Given the description of an element on the screen output the (x, y) to click on. 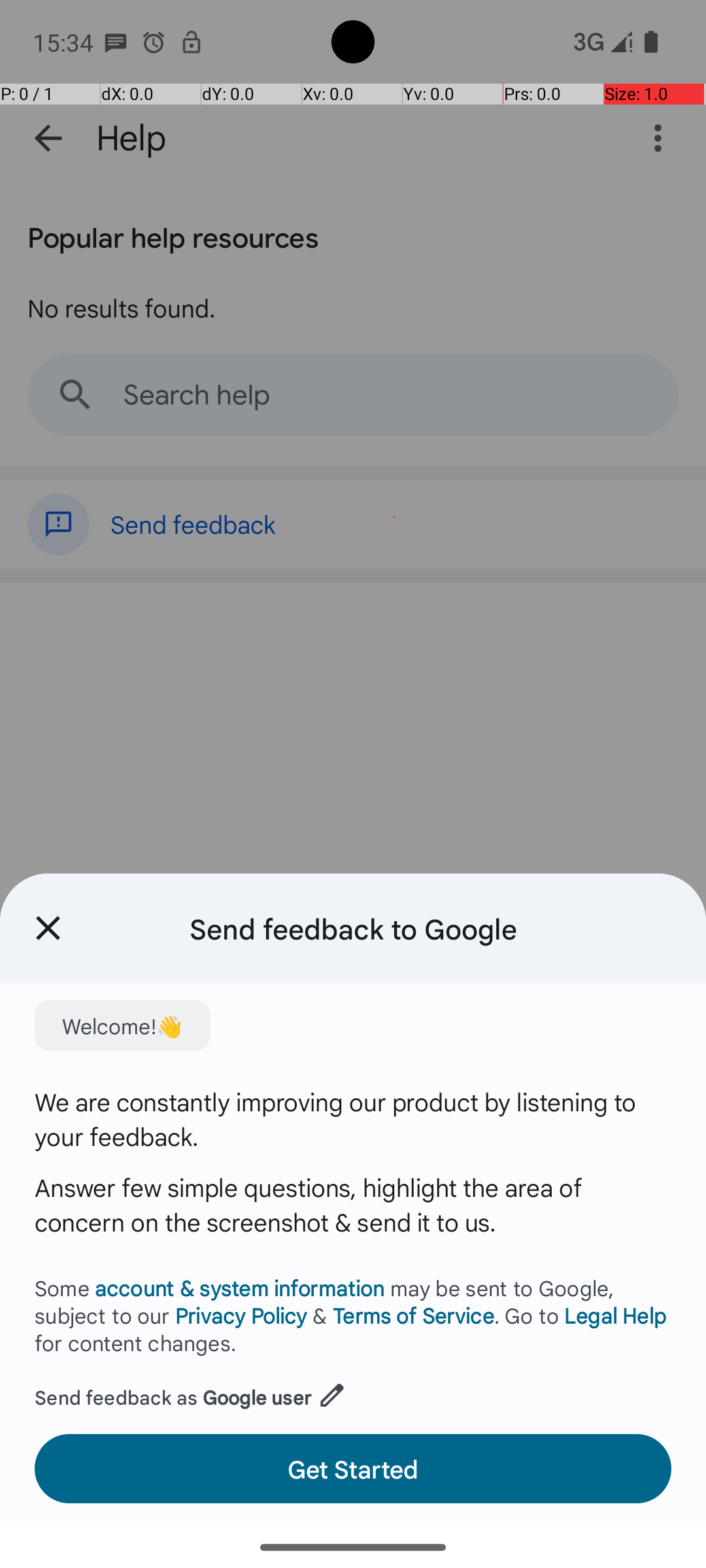
Send feedback to Google Element type: android.view.ViewGroup (353, 928)
Welcome!👋 Element type: android.widget.TextView (121, 1025)
We are constantly improving our product by listening to your feedback. Element type: android.widget.TextView (352, 1118)
Answer few simple questions, highlight the area of concern on the screenshot & send it to us. Element type: android.widget.TextView (352, 1204)
Some account & system information may be sent to Google, subject to our Privacy Policy & Terms of Service. Go to Legal Help for content changes. Element type: android.widget.TextView (352, 1314)
Send feedback as Google user   Element type: android.widget.TextView (190, 1391)
Get Started Element type: android.widget.Button (352, 1468)
Close Feedback Element type: android.widget.ImageButton (48, 928)
